Given the description of an element on the screen output the (x, y) to click on. 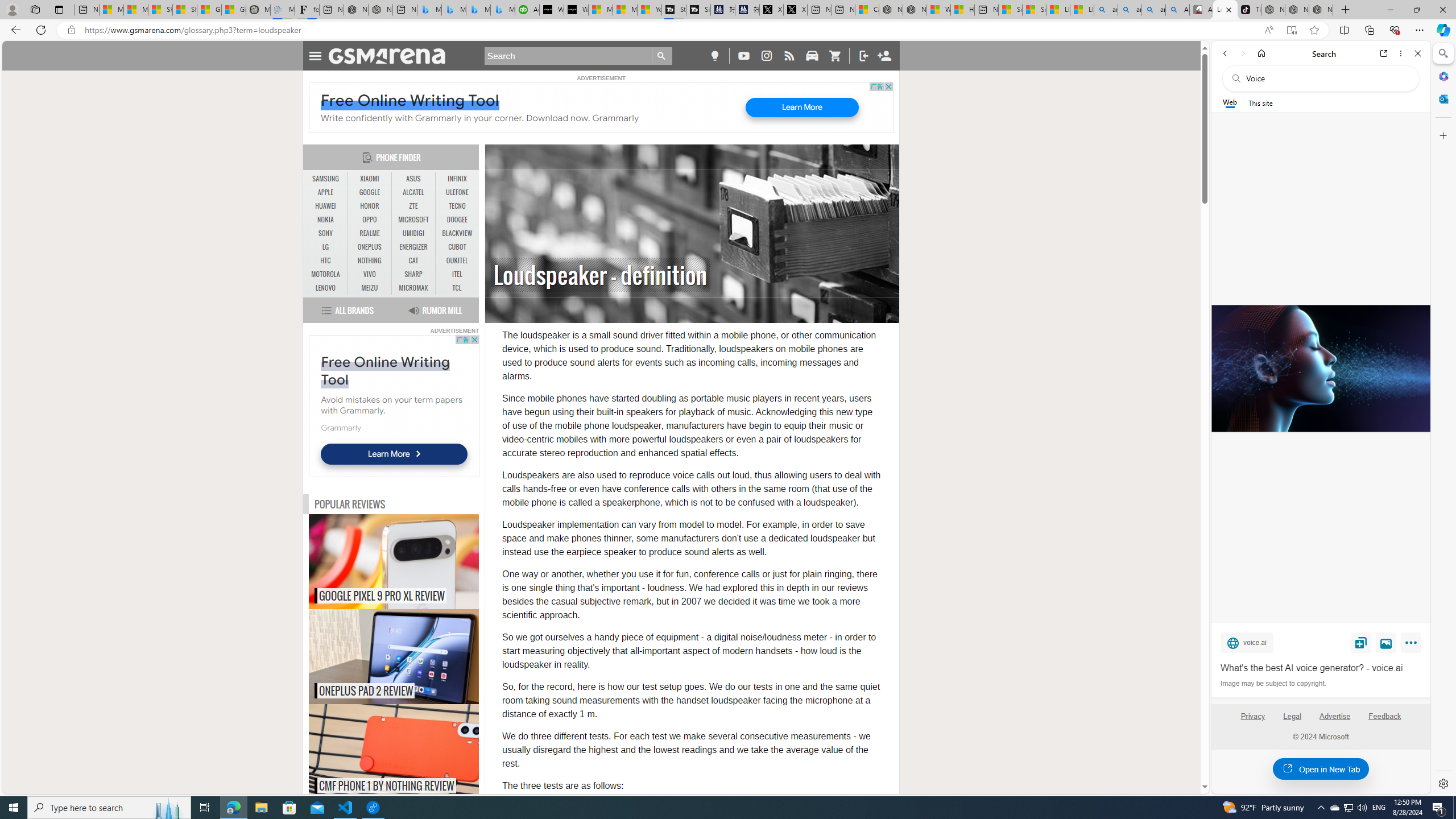
Save (1361, 642)
Nordace Siena Pro 15 Backpack (1296, 9)
MICROMAX (413, 287)
HUAWEI (325, 205)
NOKIA (325, 219)
CMF Phone 1 by Nothing review (417, 751)
